Given the description of an element on the screen output the (x, y) to click on. 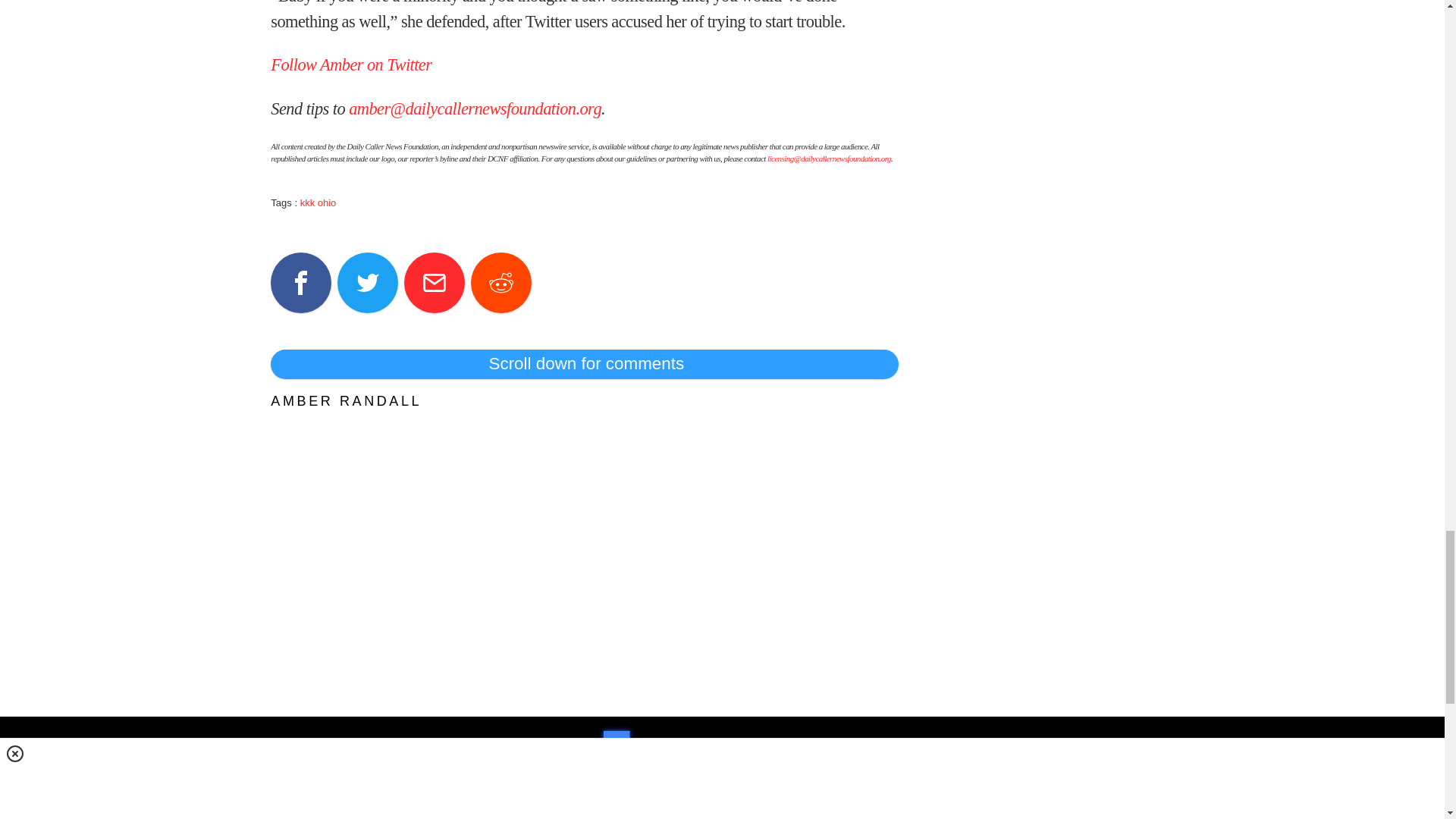
Daily Caller YouTube (797, 816)
Follow Amber on Twitter (350, 64)
Daily Caller YouTube (852, 816)
Scroll down for comments (584, 363)
To home page (727, 757)
Daily Caller Twitter (688, 816)
Daily Caller Instagram (742, 816)
Daily Caller Facebook (633, 816)
